Given the description of an element on the screen output the (x, y) to click on. 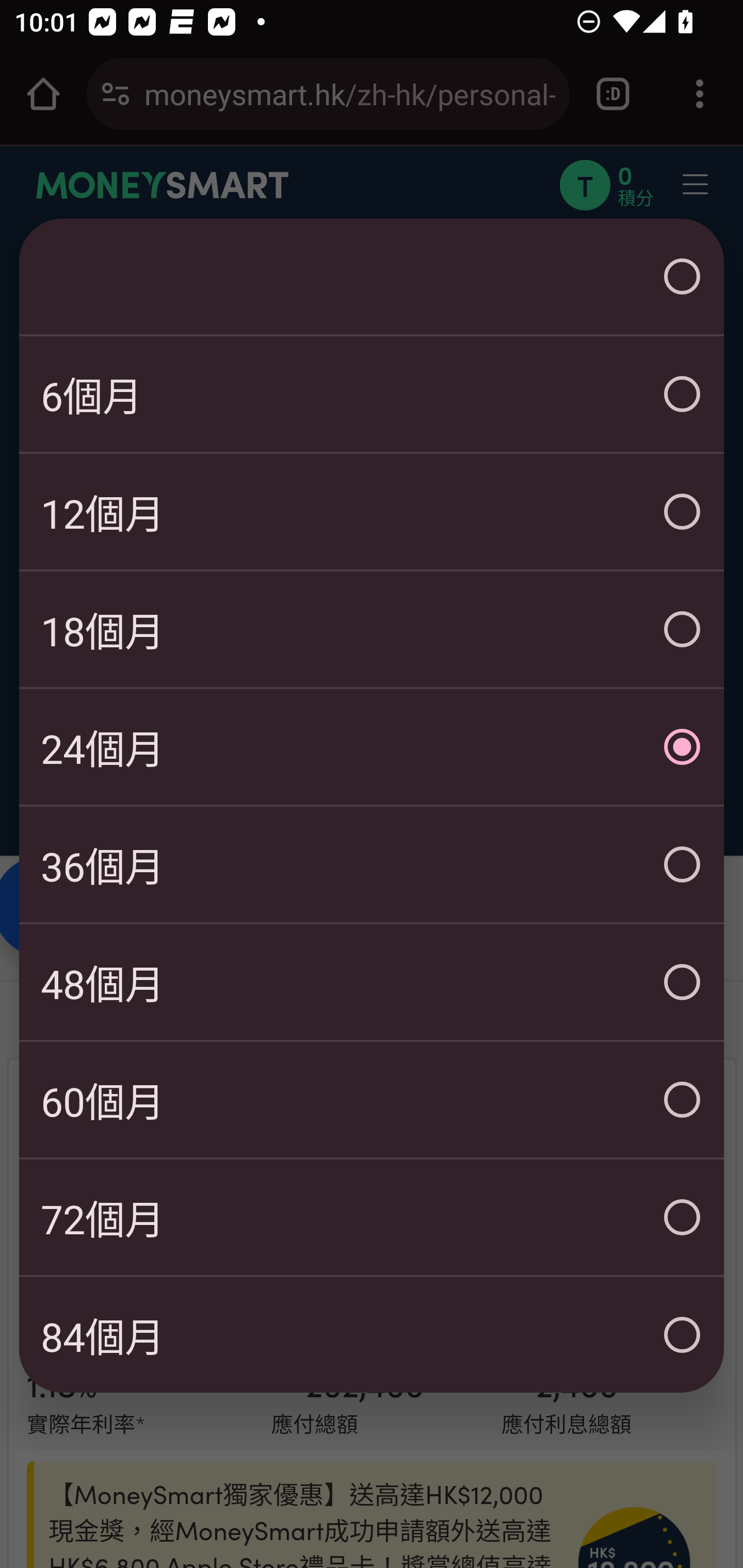
6個月 (371, 393)
12個月 (371, 511)
18個月 (371, 628)
24個月 (371, 746)
36個月 (371, 863)
48個月 (371, 981)
60個月 (371, 1099)
72個月 (371, 1216)
84個月 (371, 1334)
